Given the description of an element on the screen output the (x, y) to click on. 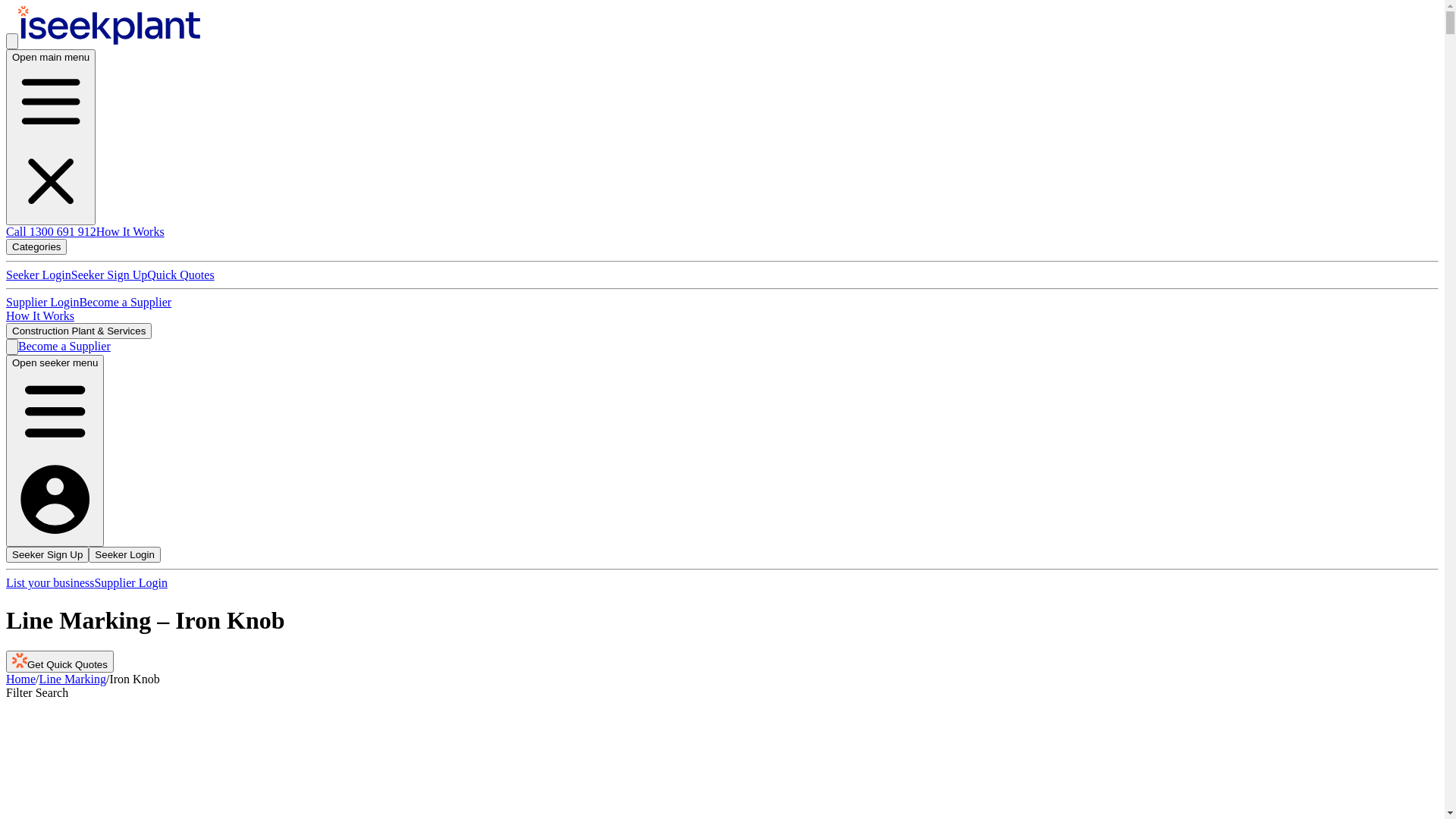
Show search form Element type: hover (12, 41)
Line Marking Element type: text (72, 678)
Seeker Sign Up Element type: text (47, 554)
Supplier Login Element type: text (130, 582)
Seeker Sign Up Element type: text (109, 274)
Get Quick Quotes Element type: text (59, 661)
How It Works Element type: text (40, 315)
Open main menu Element type: text (50, 137)
Construction Plant & Services Element type: text (78, 330)
Call 1300 691 912 Element type: text (51, 230)
userCircle Element type: hover (55, 499)
Become a Supplier Element type: text (124, 301)
Supplier Login Element type: text (42, 301)
Open seeker menu Element type: text (54, 450)
Quick Quotes Element type: text (180, 274)
Seeker Login Element type: text (38, 274)
Home Element type: text (20, 678)
menu Element type: hover (55, 411)
Become a Supplier Element type: text (64, 345)
Seeker Login Element type: text (124, 554)
Categories Element type: text (36, 246)
List your business Element type: text (50, 582)
How It Works Element type: text (130, 230)
